Given the description of an element on the screen output the (x, y) to click on. 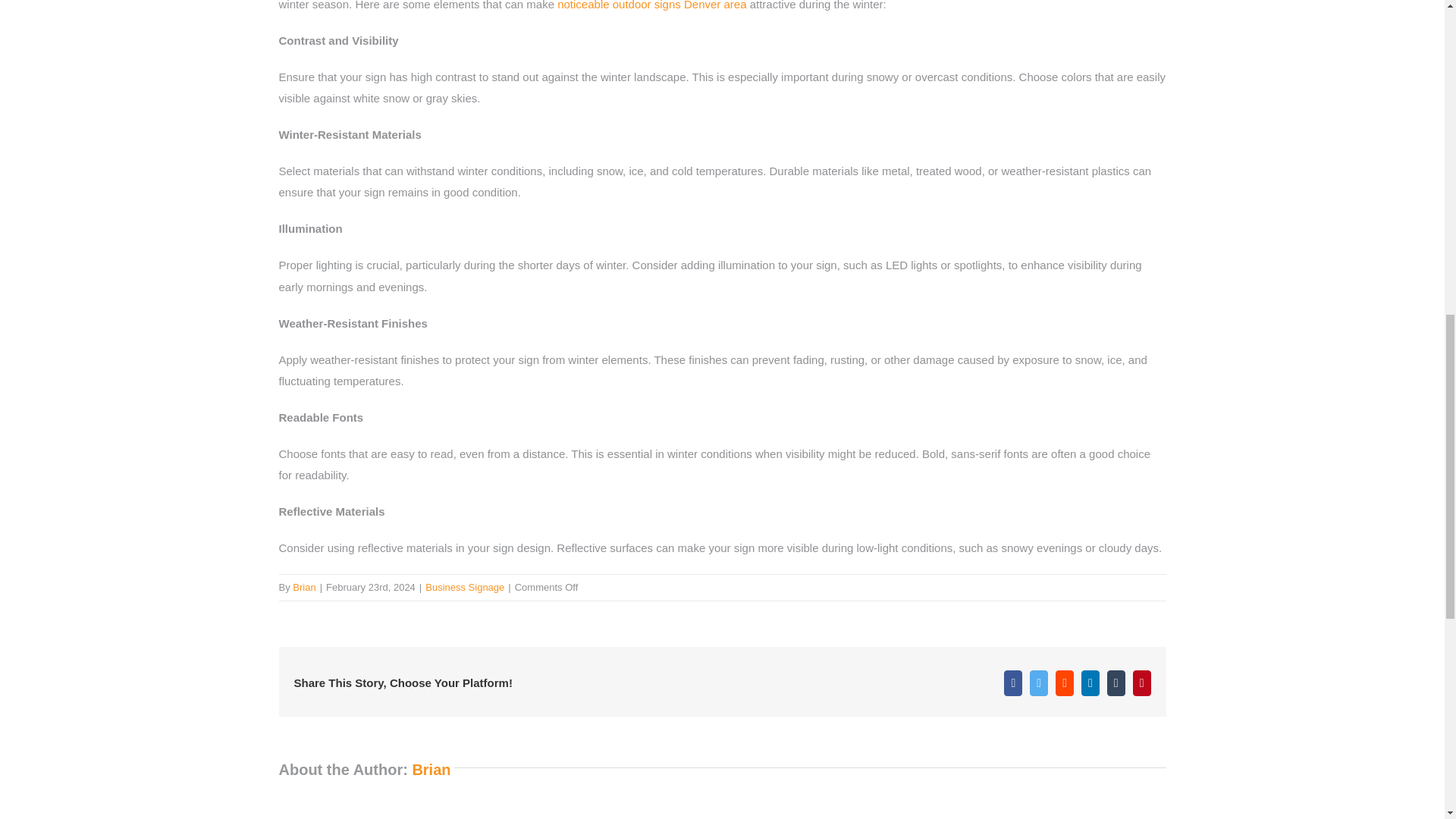
noticeable outdoor signs Denver area (651, 5)
Brian (303, 586)
Posts by Brian (303, 586)
Posts by Brian (430, 769)
Business Signage (464, 586)
